Given the description of an element on the screen output the (x, y) to click on. 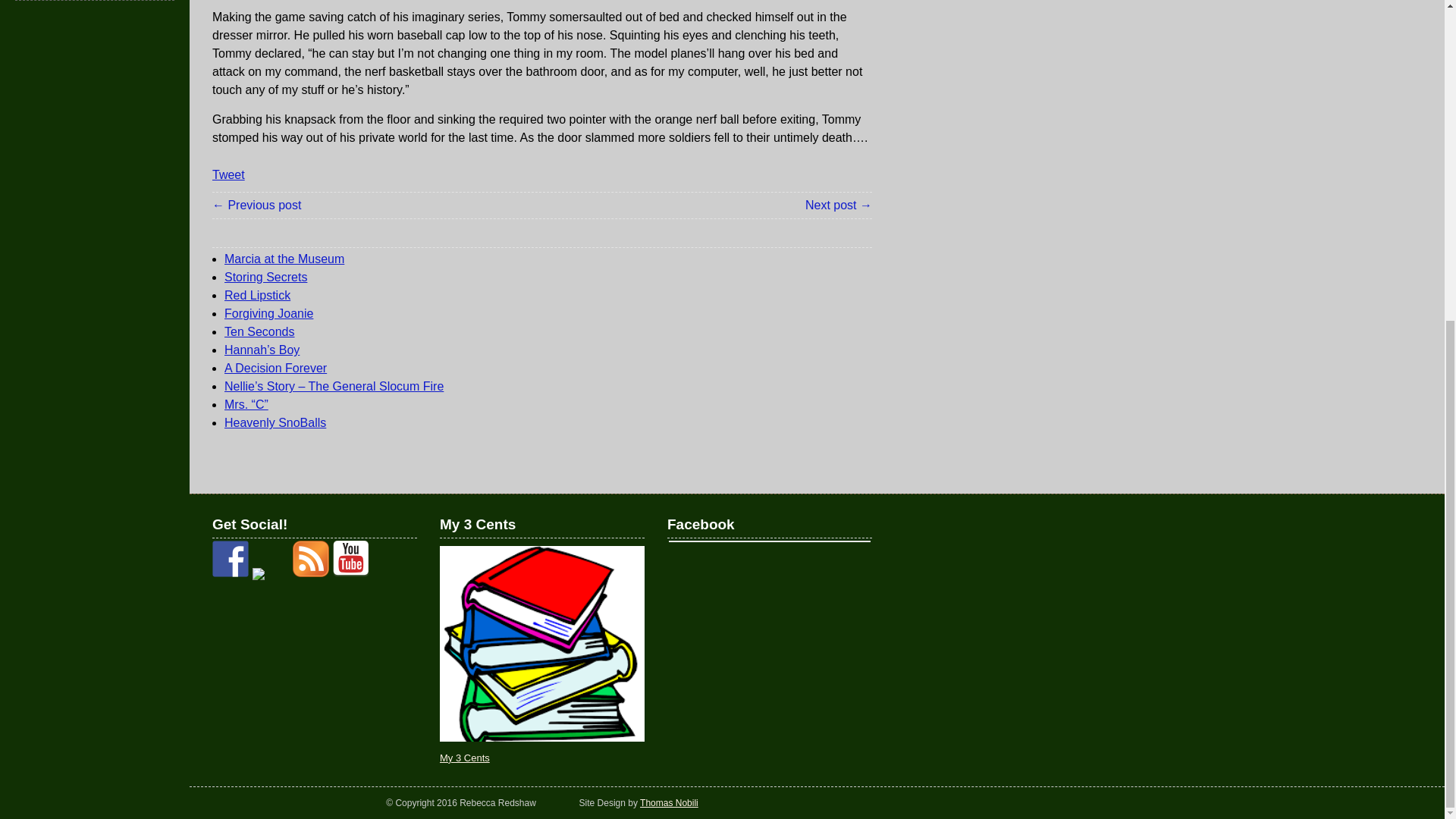
A Decision Forever (275, 367)
Red Lipstick (256, 295)
Marcia at the Museum (283, 258)
Subscribe to my RSS Feed (310, 558)
The Reverend Broderick Sloan MacDougal (838, 205)
Heavenly SnoBalls (275, 422)
Tweet (228, 174)
Follow me on Facebook (230, 558)
Somebody Special (256, 205)
Ten Seconds (259, 331)
